Given the description of an element on the screen output the (x, y) to click on. 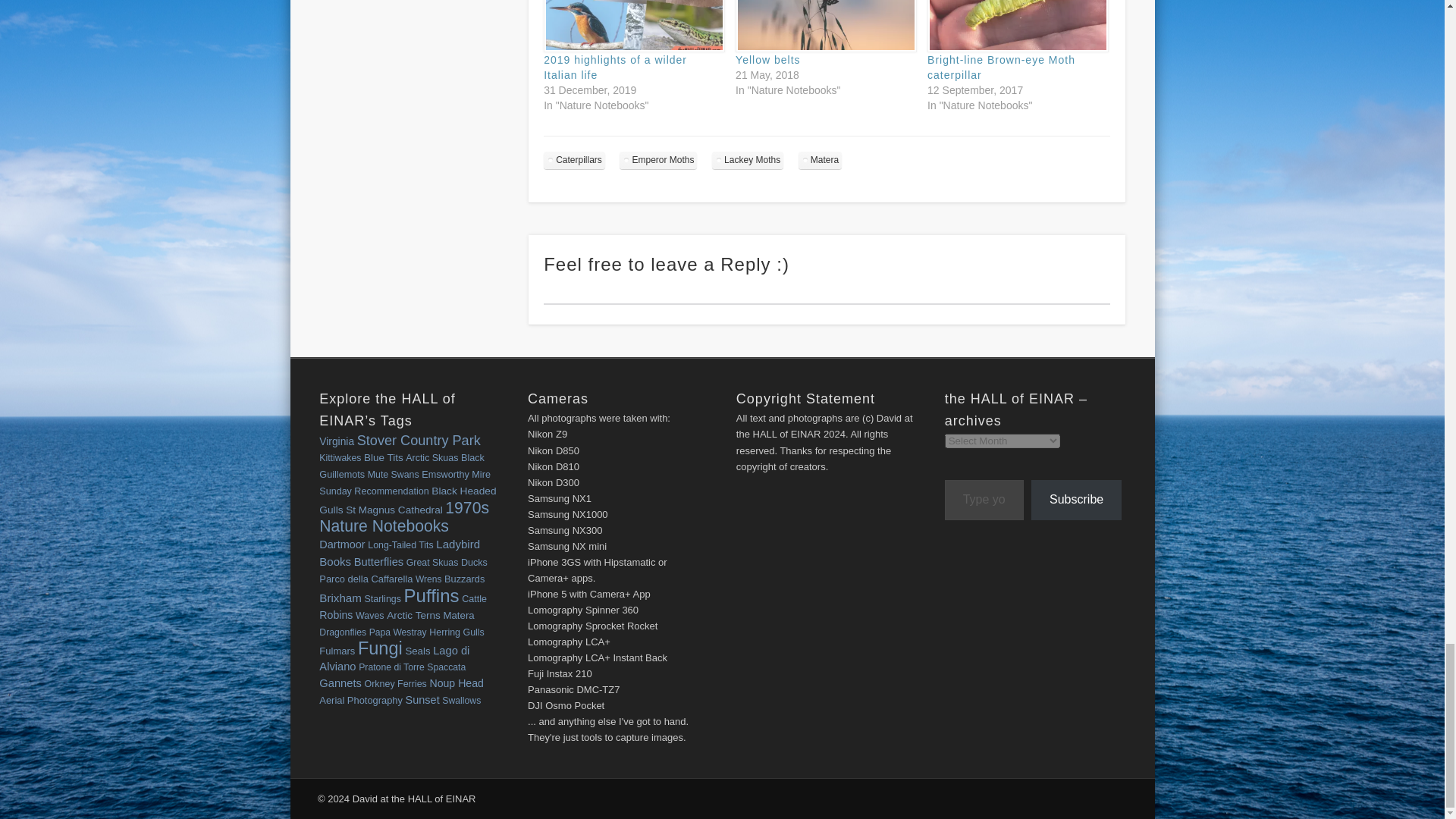
26 topics (339, 457)
Yellow belts (767, 60)
Bright-line Brown-eye Moth caterpillar (1001, 67)
Emperor Moths (658, 159)
78 topics (418, 440)
Lackey Moths (747, 159)
Caterpillars (574, 159)
Yellow belts (823, 26)
2019 highlights of a wilder Italian life (615, 67)
Bright-line Brown-eye Moth caterpillar (1001, 67)
2019 highlights of a wilder Italian life (615, 67)
Matera (819, 159)
40 topics (335, 440)
Bright-line Brown-eye Moth caterpillar (1015, 26)
